Given the description of an element on the screen output the (x, y) to click on. 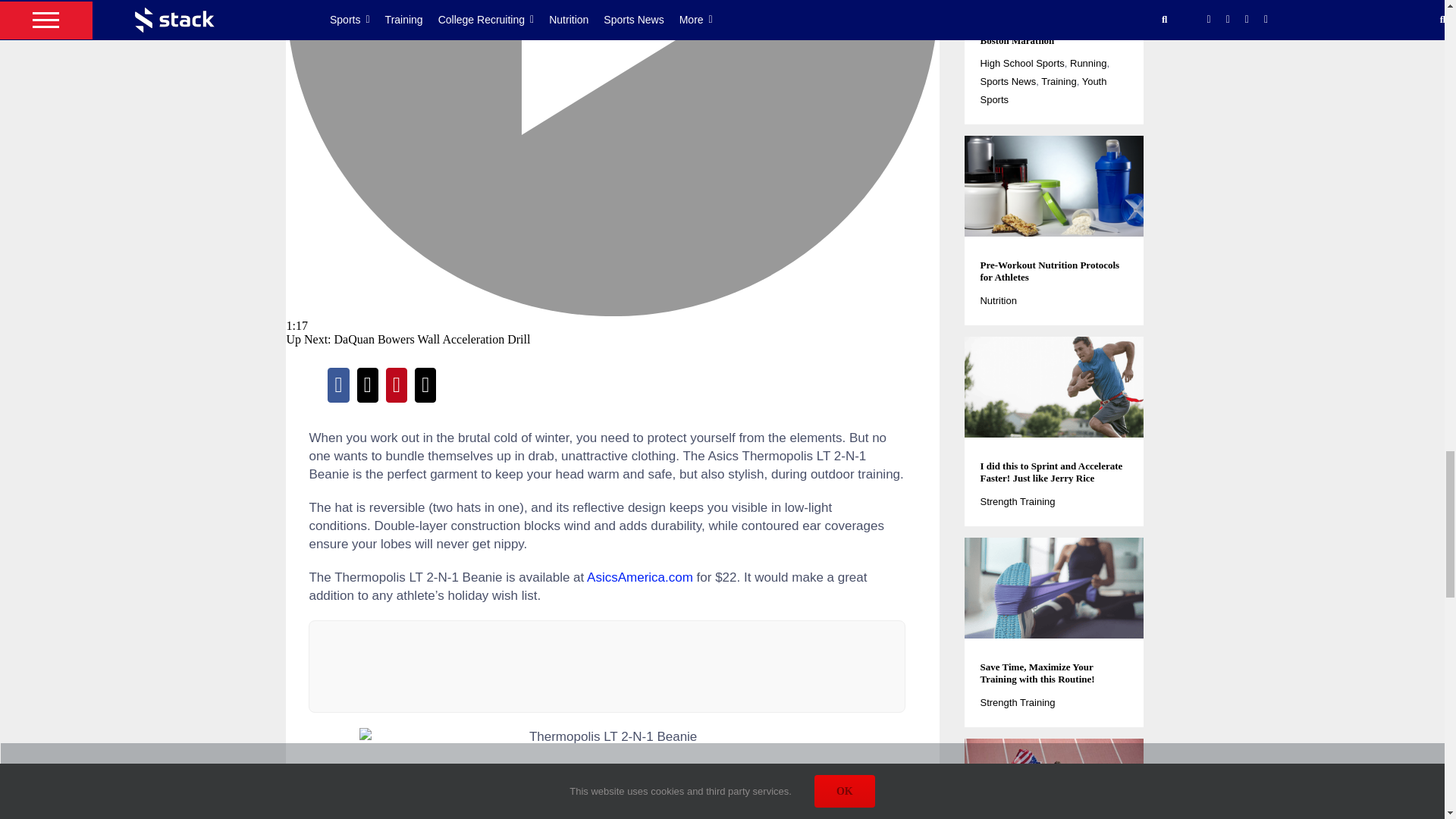
Thermopolis LT 2-N-1 Beanie - STACK (607, 773)
3rd party ad content (607, 666)
